Given the description of an element on the screen output the (x, y) to click on. 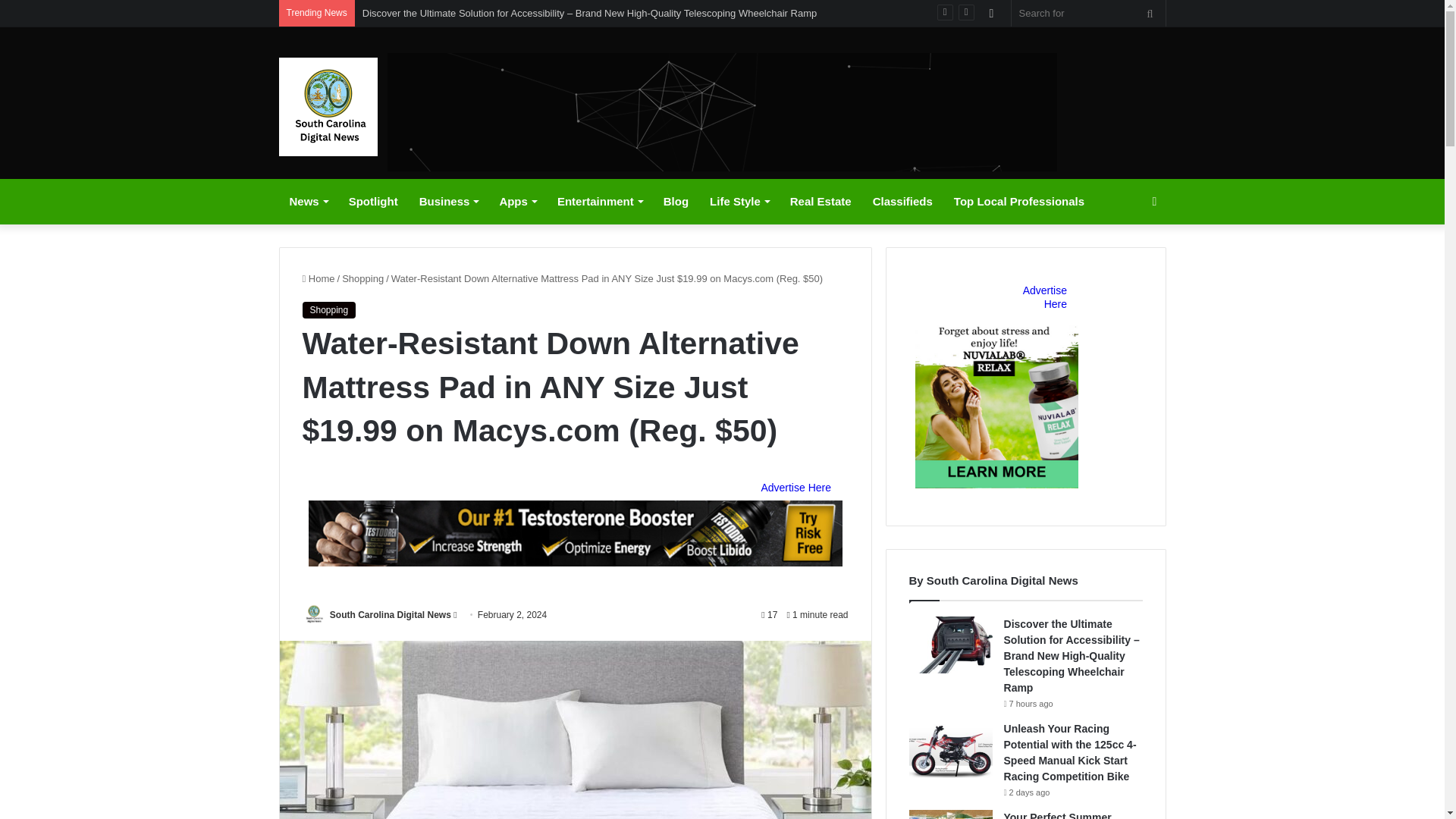
Search for (1088, 13)
Life Style (738, 201)
Entertainment (599, 201)
Apps (517, 201)
Blog (675, 201)
Business (449, 201)
News (308, 201)
South Carolina Digital News (328, 106)
Spotlight (373, 201)
Search for (1149, 13)
